Given the description of an element on the screen output the (x, y) to click on. 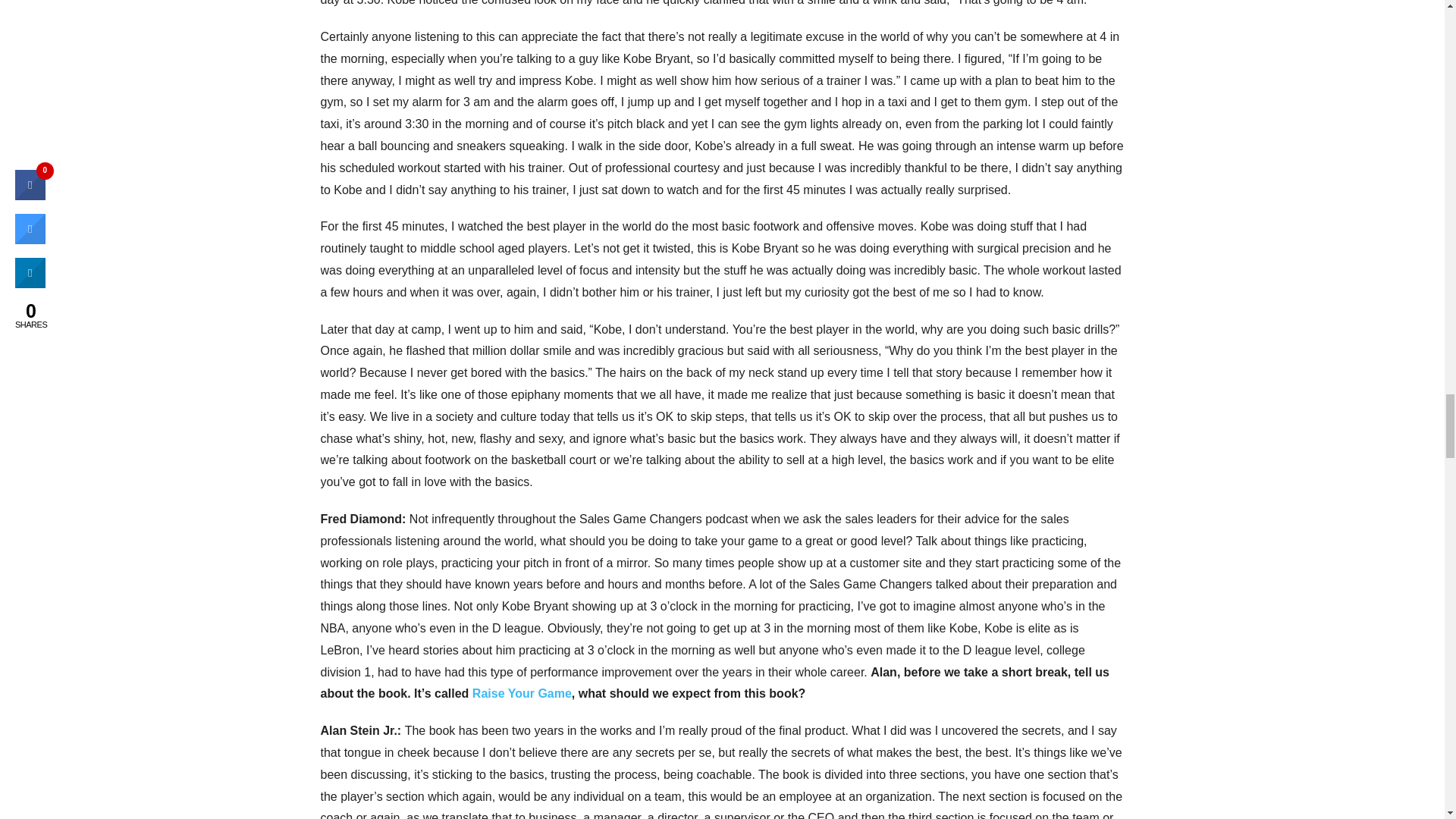
Raise Your Game (521, 693)
